Given the description of an element on the screen output the (x, y) to click on. 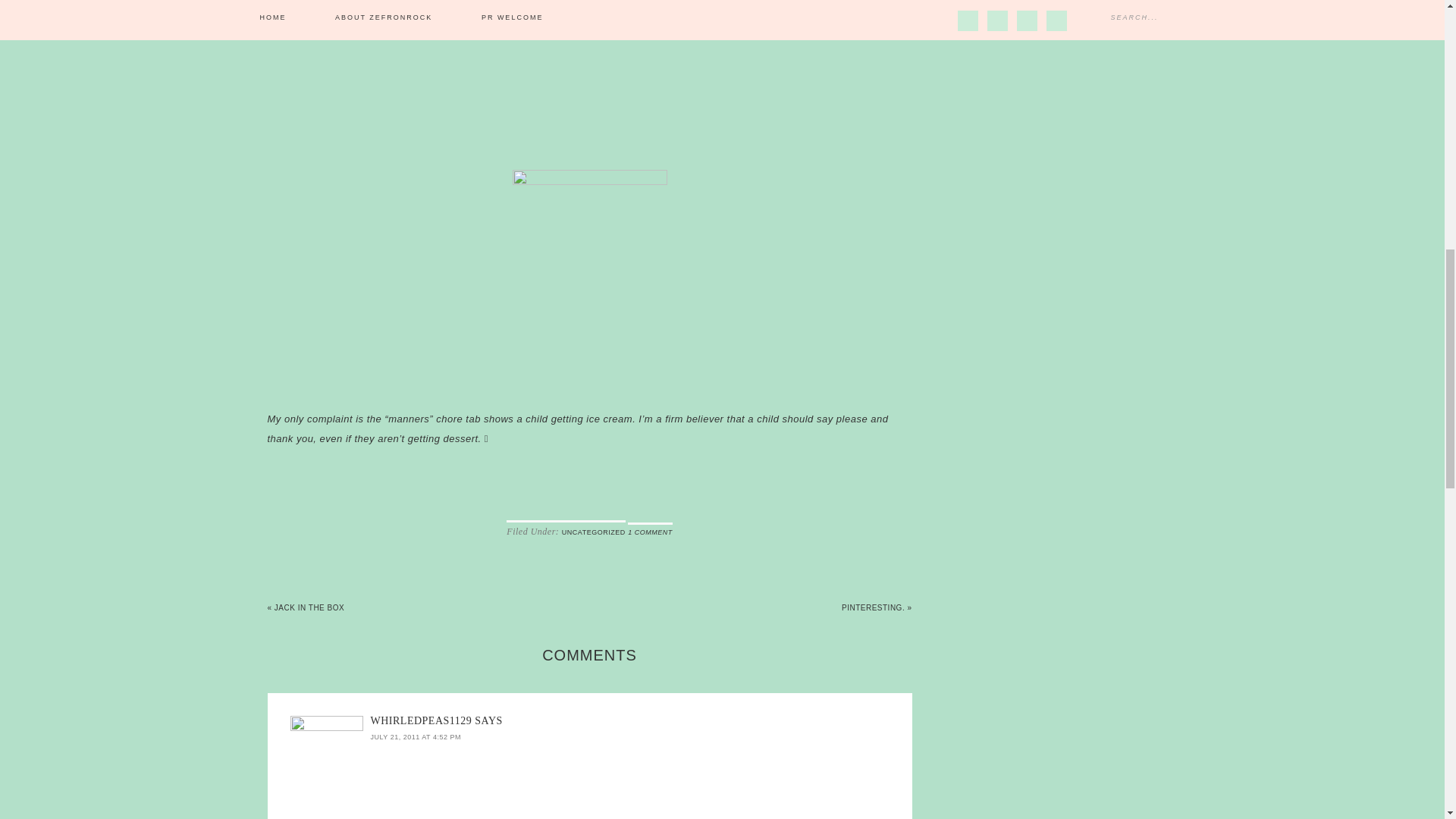
JULY 21, 2011 AT 4:52 PM (414, 737)
WHIRLEDPEAS1129 (420, 720)
UNCATEGORIZED (594, 532)
1 COMMENT (649, 532)
